Given the description of an element on the screen output the (x, y) to click on. 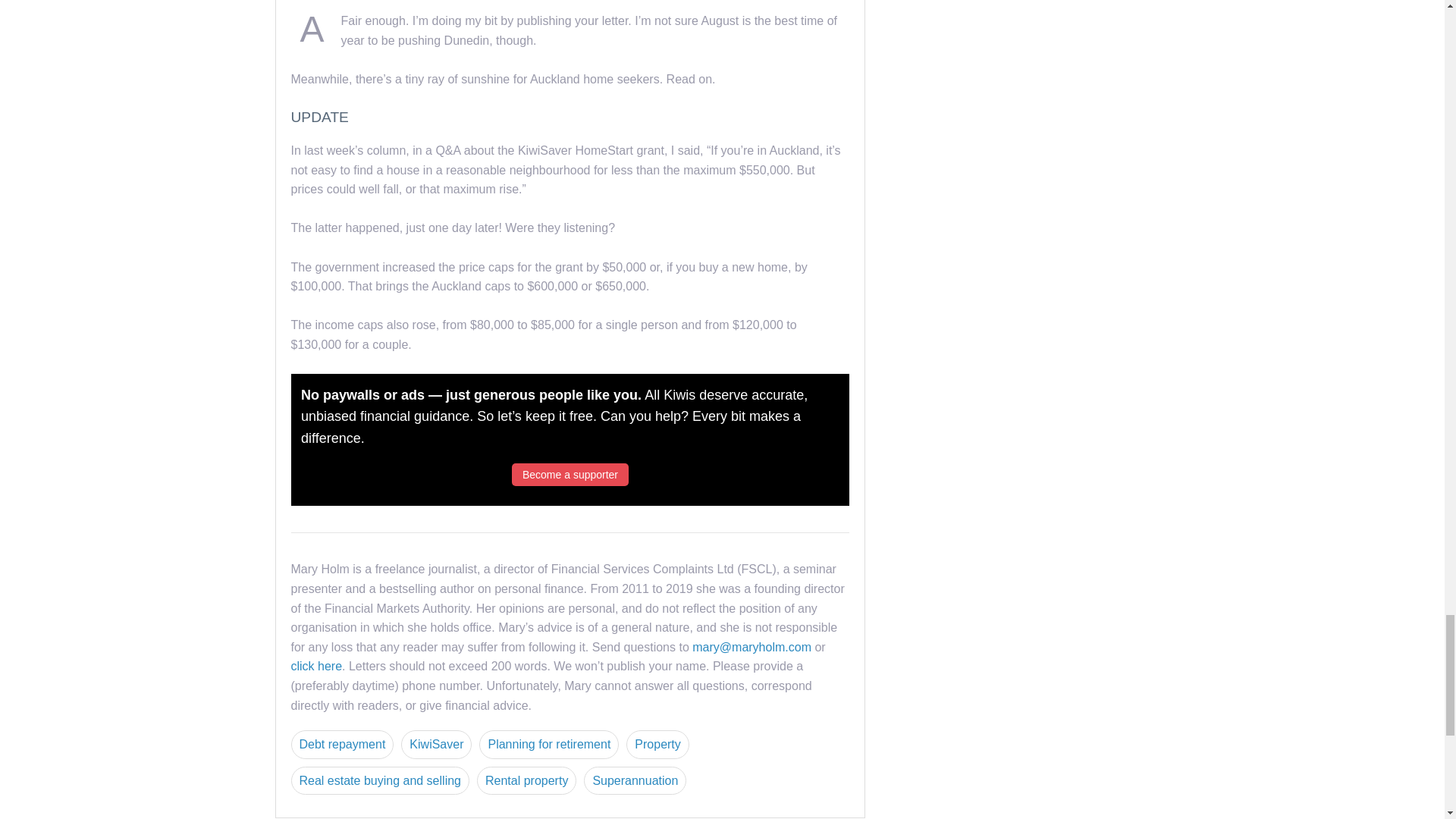
Real estate buying and selling (379, 780)
KiwiSaver (436, 744)
click here (316, 666)
Property (657, 744)
Superannuation (634, 780)
Debt repayment (342, 744)
Rental property (526, 780)
Planning for retirement (548, 744)
